Given the description of an element on the screen output the (x, y) to click on. 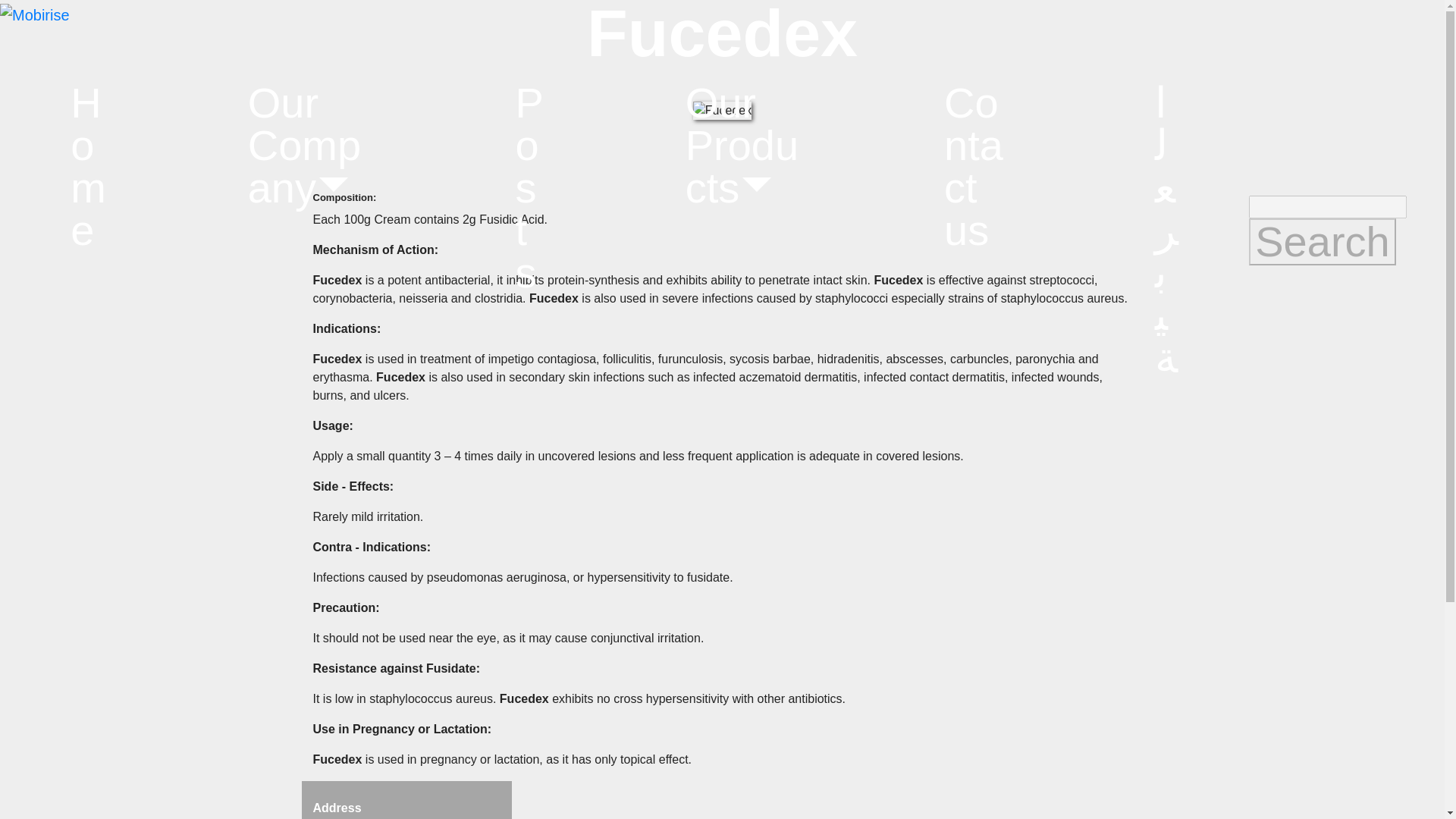
Contact us (978, 167)
Our Company (310, 146)
Search (1321, 241)
Search (1321, 241)
Our Products (743, 146)
